Given the description of an element on the screen output the (x, y) to click on. 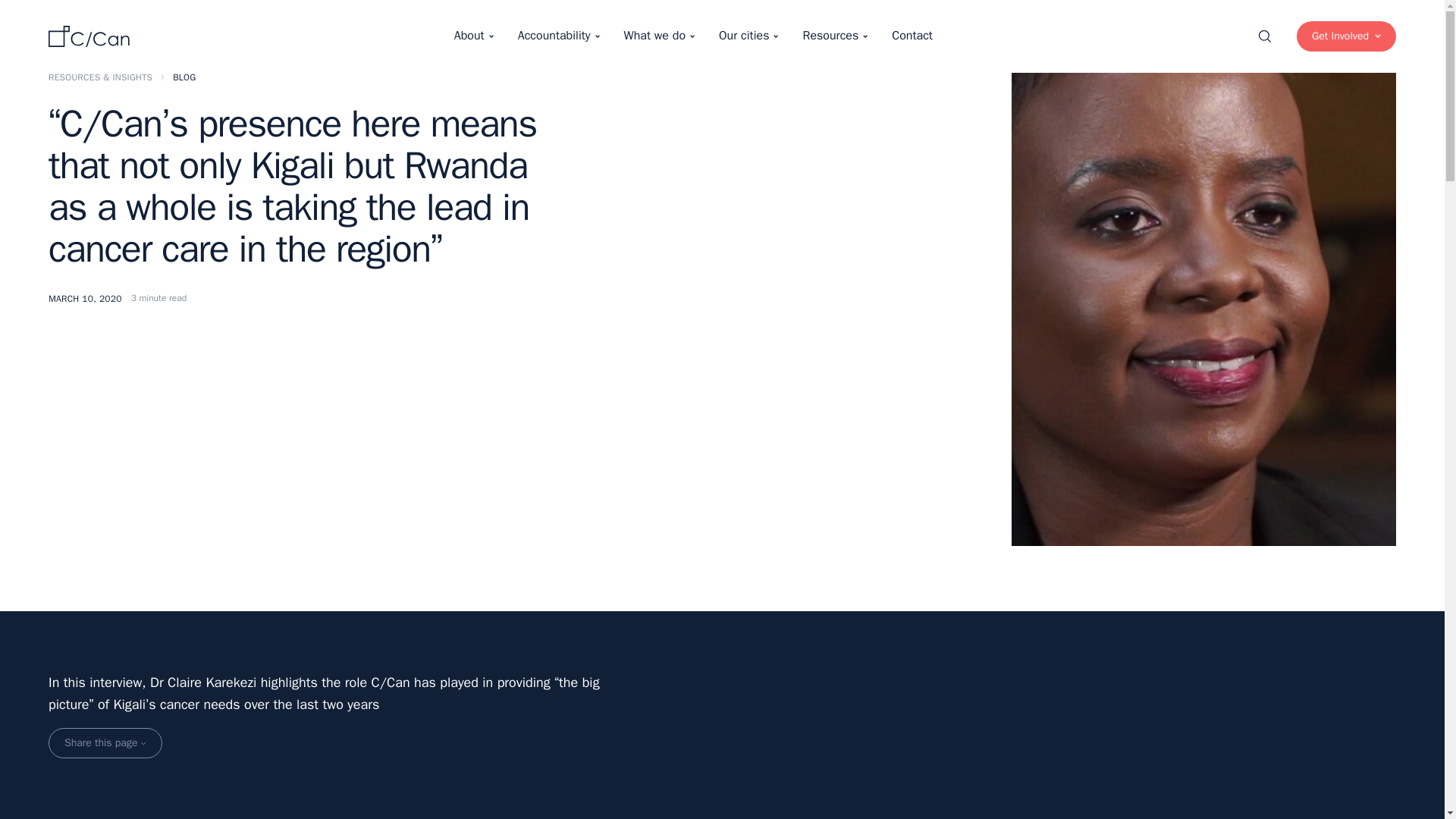
What we do (658, 36)
Our cities (748, 36)
Accountability (558, 36)
About (473, 36)
